Given the description of an element on the screen output the (x, y) to click on. 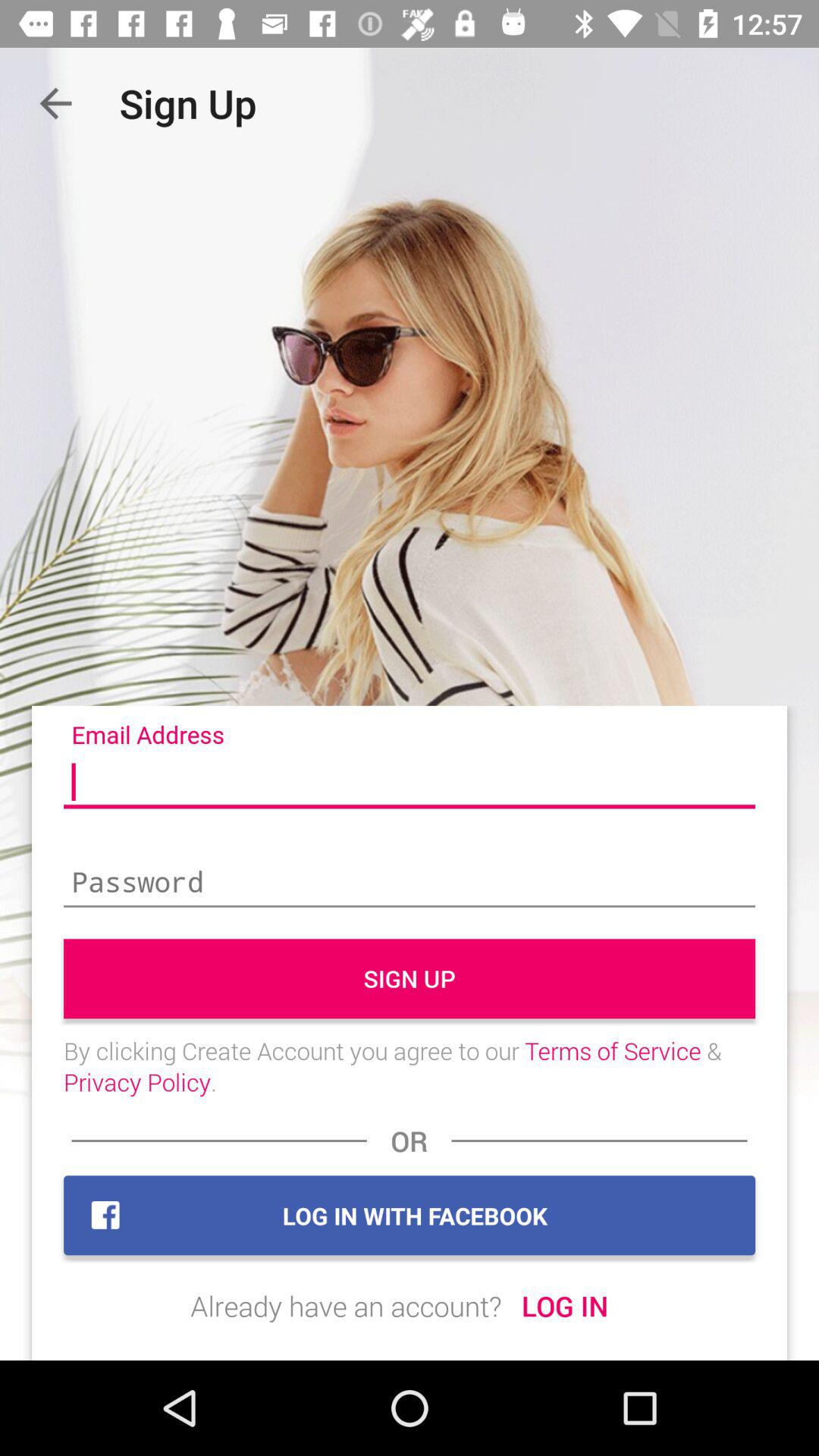
password field (409, 883)
